Given the description of an element on the screen output the (x, y) to click on. 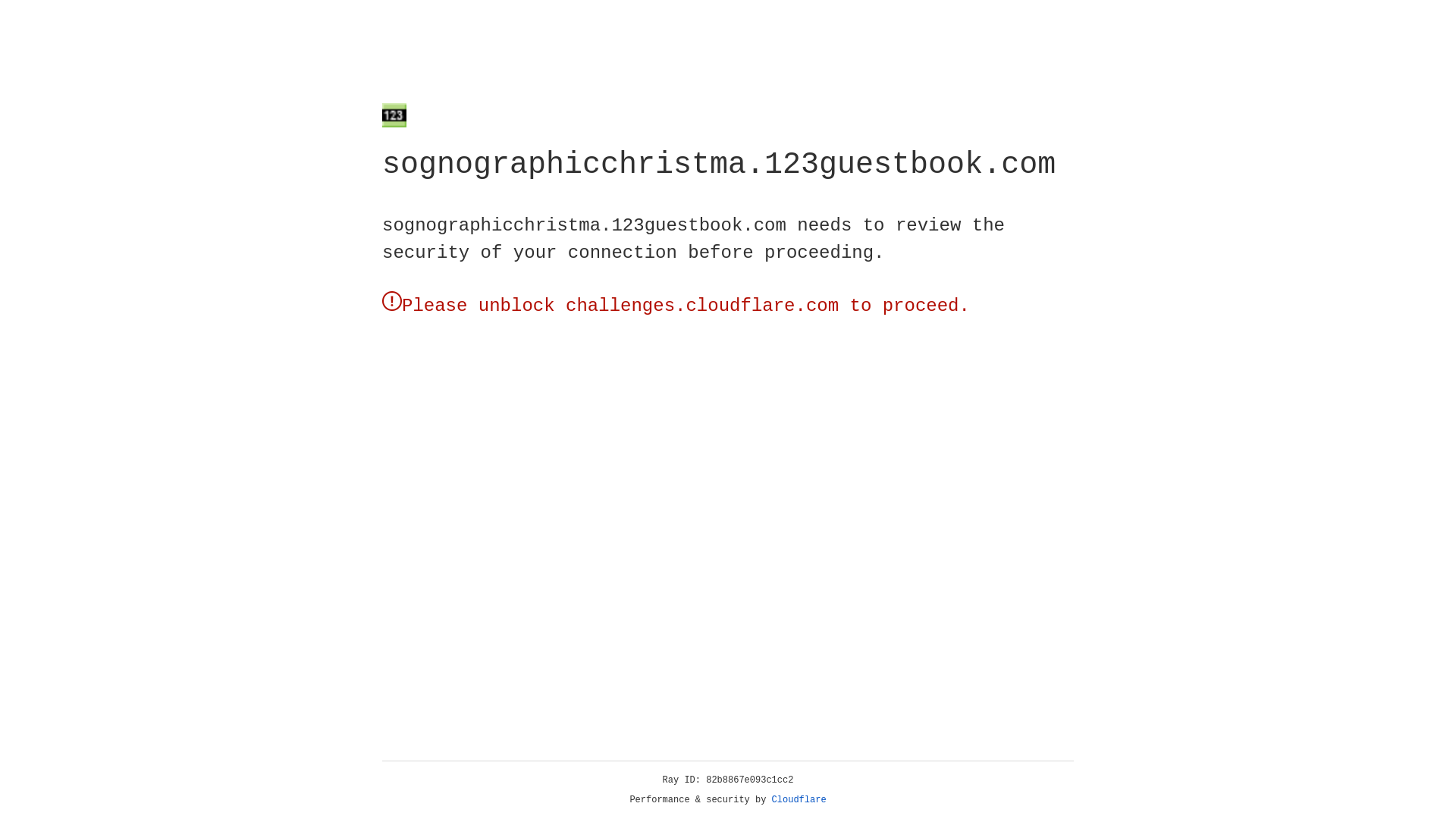
Cloudflare Element type: text (798, 799)
